Given the description of an element on the screen output the (x, y) to click on. 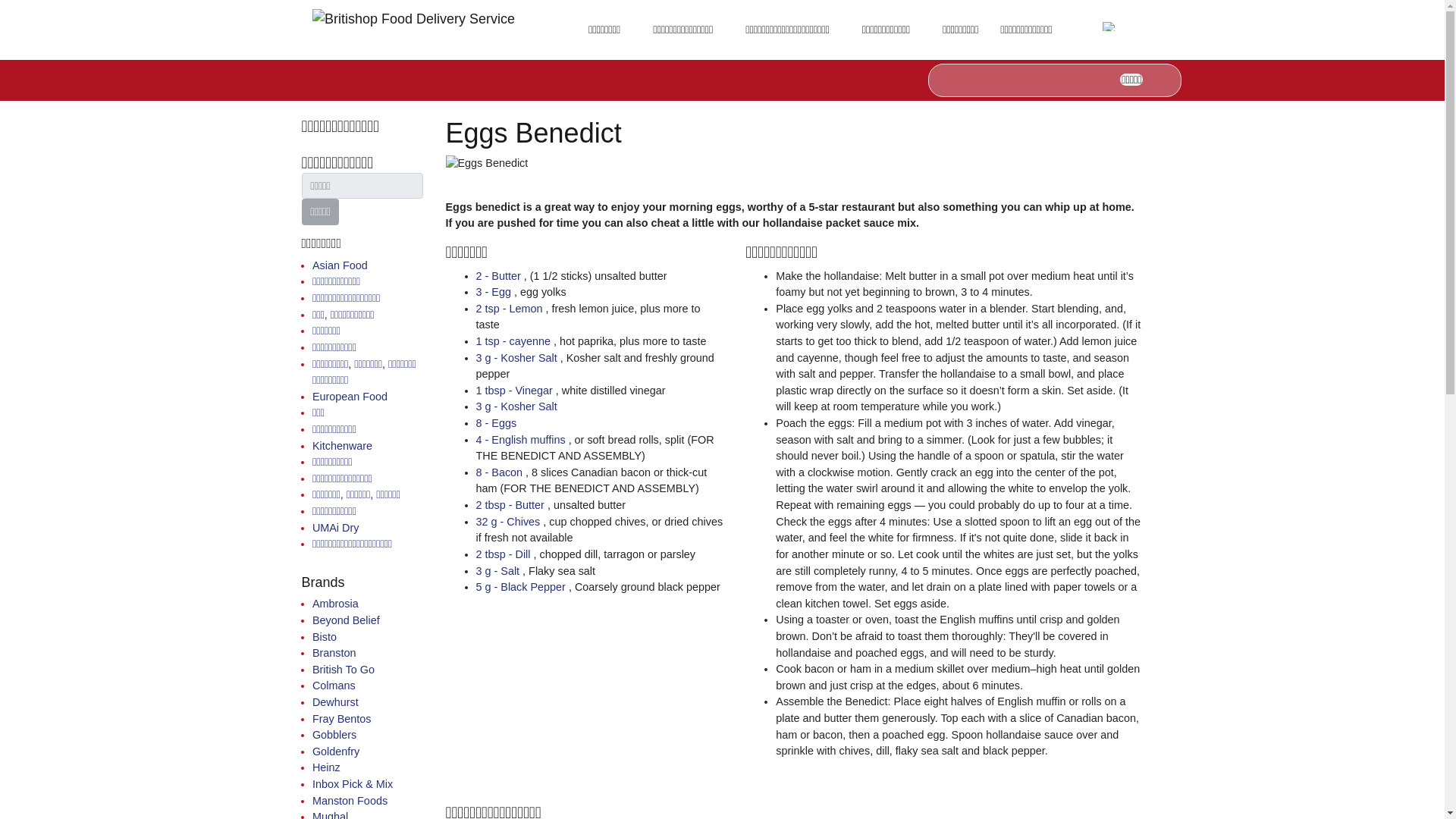
1 tbsp - Vinegar (516, 390)
2 - Butter (500, 275)
5 g - Black Pepper (522, 586)
3 - Egg (494, 291)
2 tsp - Lemon (511, 308)
2 tbsp - Butter (511, 504)
3 g - Salt (499, 571)
3 g - Kosher Salt (518, 357)
4 - English muffins (522, 439)
8 - Bacon (500, 472)
